Given the description of an element on the screen output the (x, y) to click on. 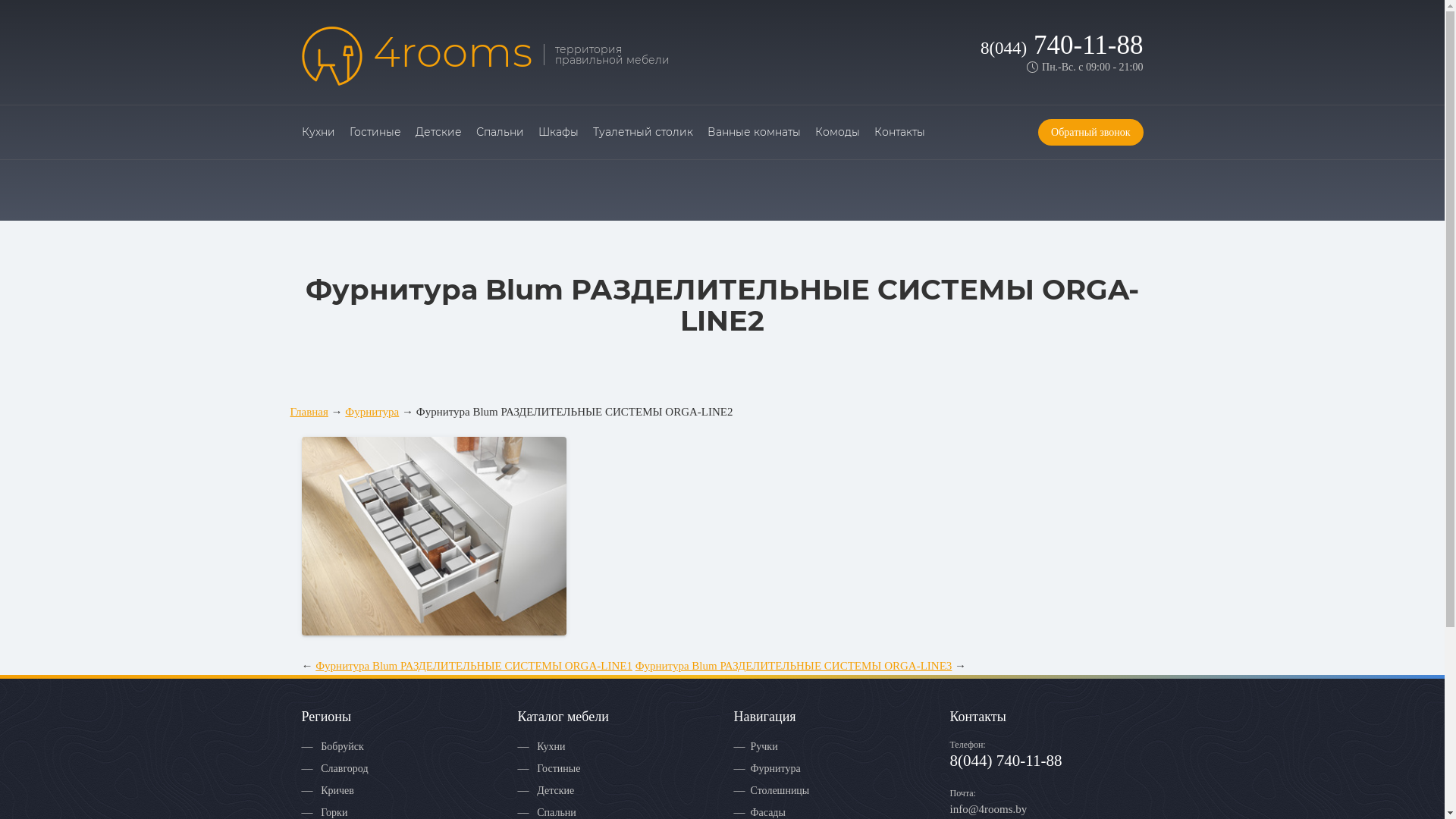
8(044) 740-11-88 Element type: text (1061, 44)
8(044) 740-11-88 Element type: text (1005, 760)
4rooms Element type: text (416, 55)
